Given the description of an element on the screen output the (x, y) to click on. 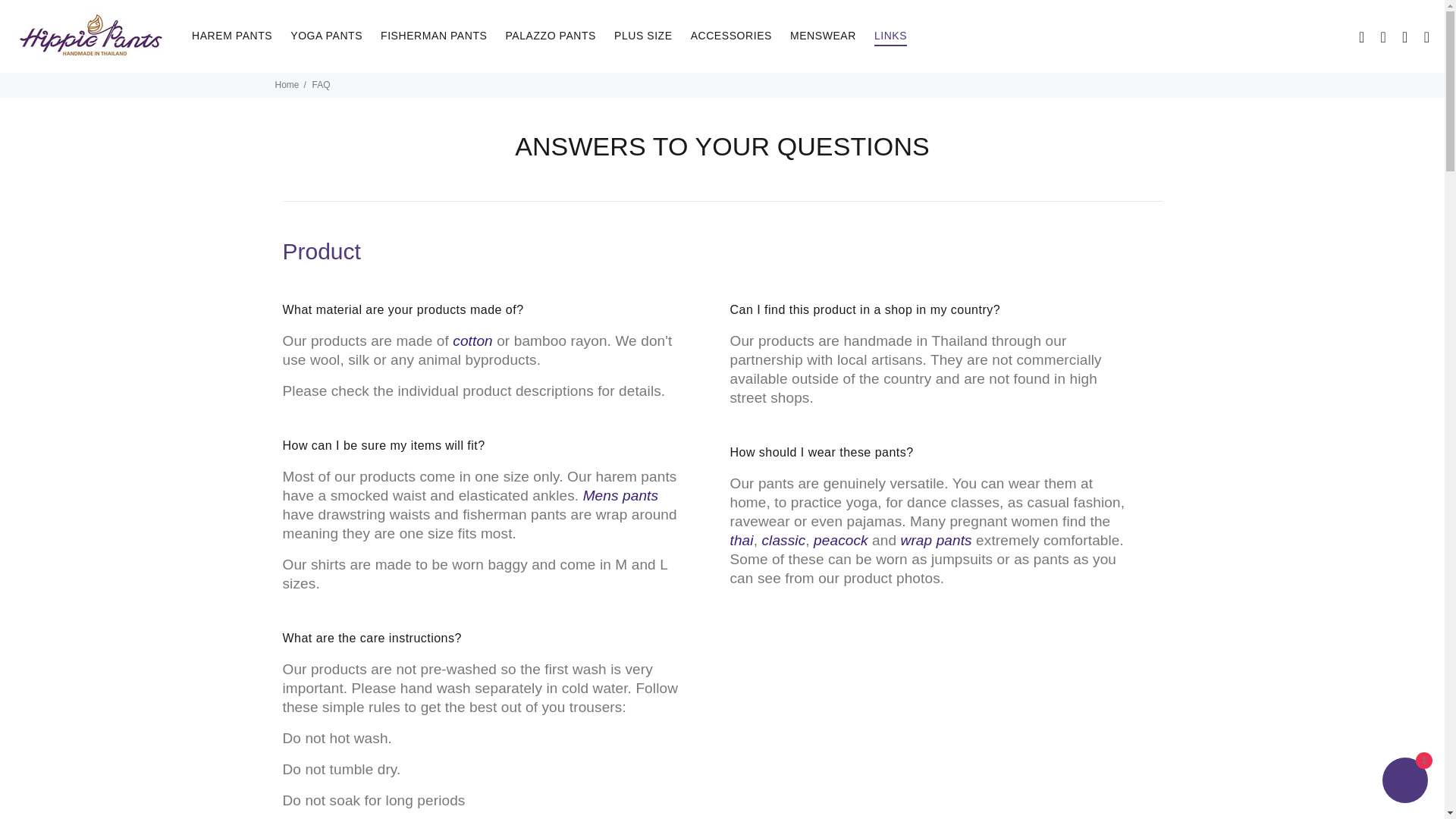
Plain colour harem pants (783, 539)
Shopify online store chat (1404, 781)
Peacock Harem Pants (840, 539)
Unisex Fisherman Pants (936, 539)
Thai Harem Pants (740, 539)
What is cotton? (472, 340)
